Given the description of an element on the screen output the (x, y) to click on. 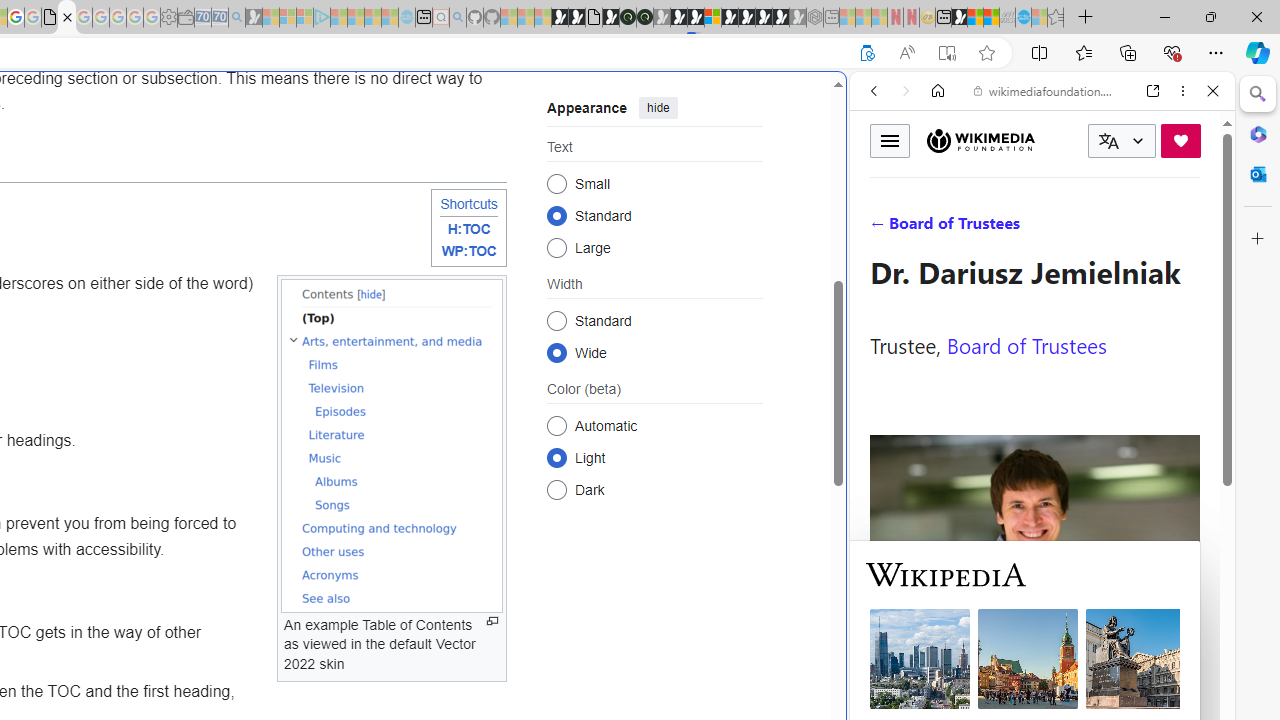
Wikimedia Foundation (980, 141)
Sign in to your account (712, 17)
H:TOC (468, 229)
Toggle menu (890, 140)
Tabs you've opened (276, 265)
Dark (556, 488)
H:TOC (468, 229)
